Given the description of an element on the screen output the (x, y) to click on. 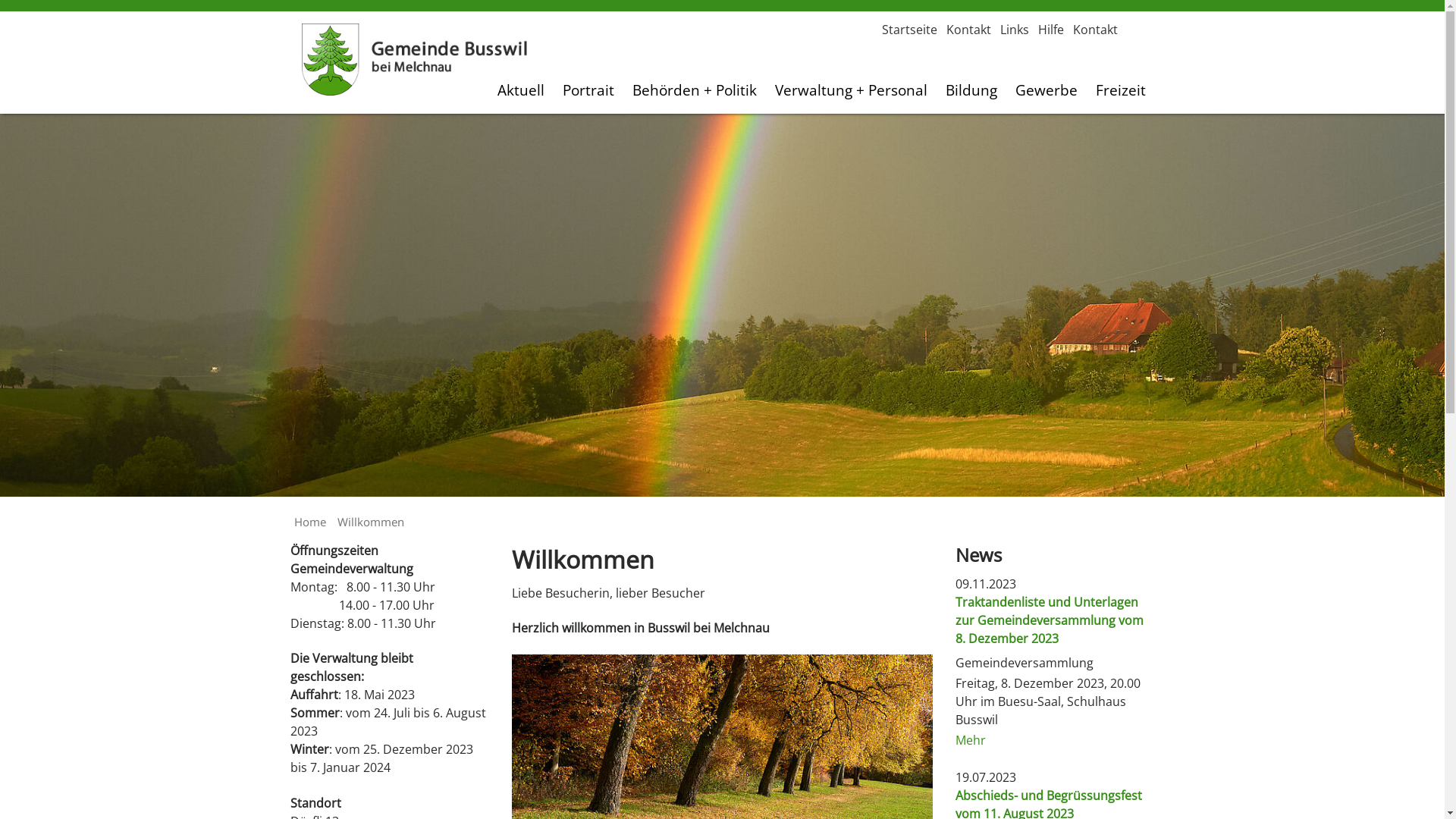
Hilfe Element type: text (1049, 29)
Startseite Element type: text (908, 29)
Aktuell Element type: text (520, 89)
Willkommen Element type: text (369, 521)
Verwaltung + Personal Element type: text (850, 89)
Links Element type: text (1013, 29)
Kontakt Element type: text (968, 29)
Mehr Element type: text (970, 739)
Kontakt Element type: text (1094, 29)
Gewerbe Element type: text (1045, 89)
Home Element type: text (310, 521)
Freizeit Element type: text (1119, 89)
Portrait Element type: text (588, 89)
Bildung Element type: text (970, 89)
